Given the description of an element on the screen output the (x, y) to click on. 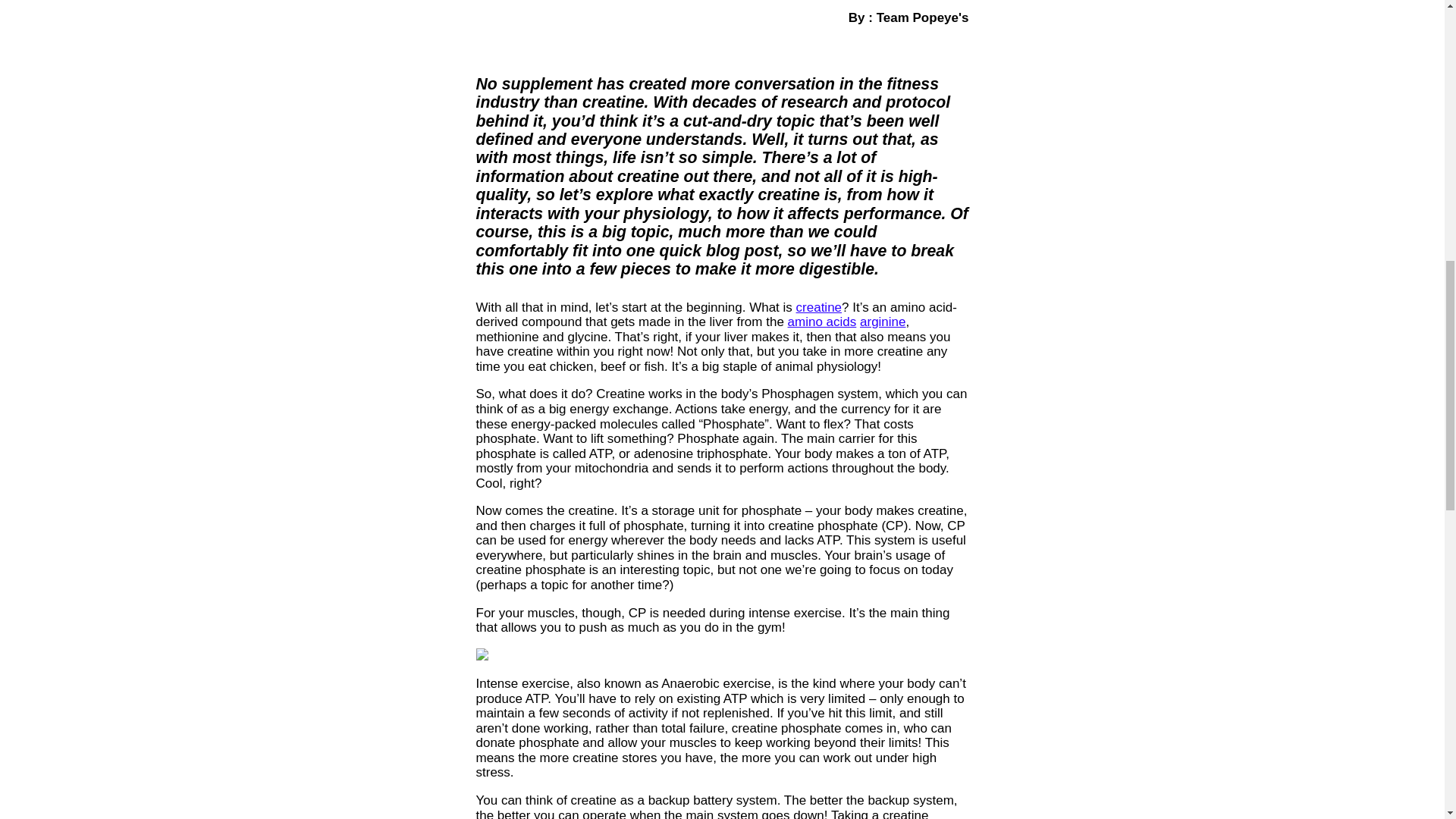
Arginine (882, 321)
Amino Acids (822, 321)
Creatine (818, 307)
